Given the description of an element on the screen output the (x, y) to click on. 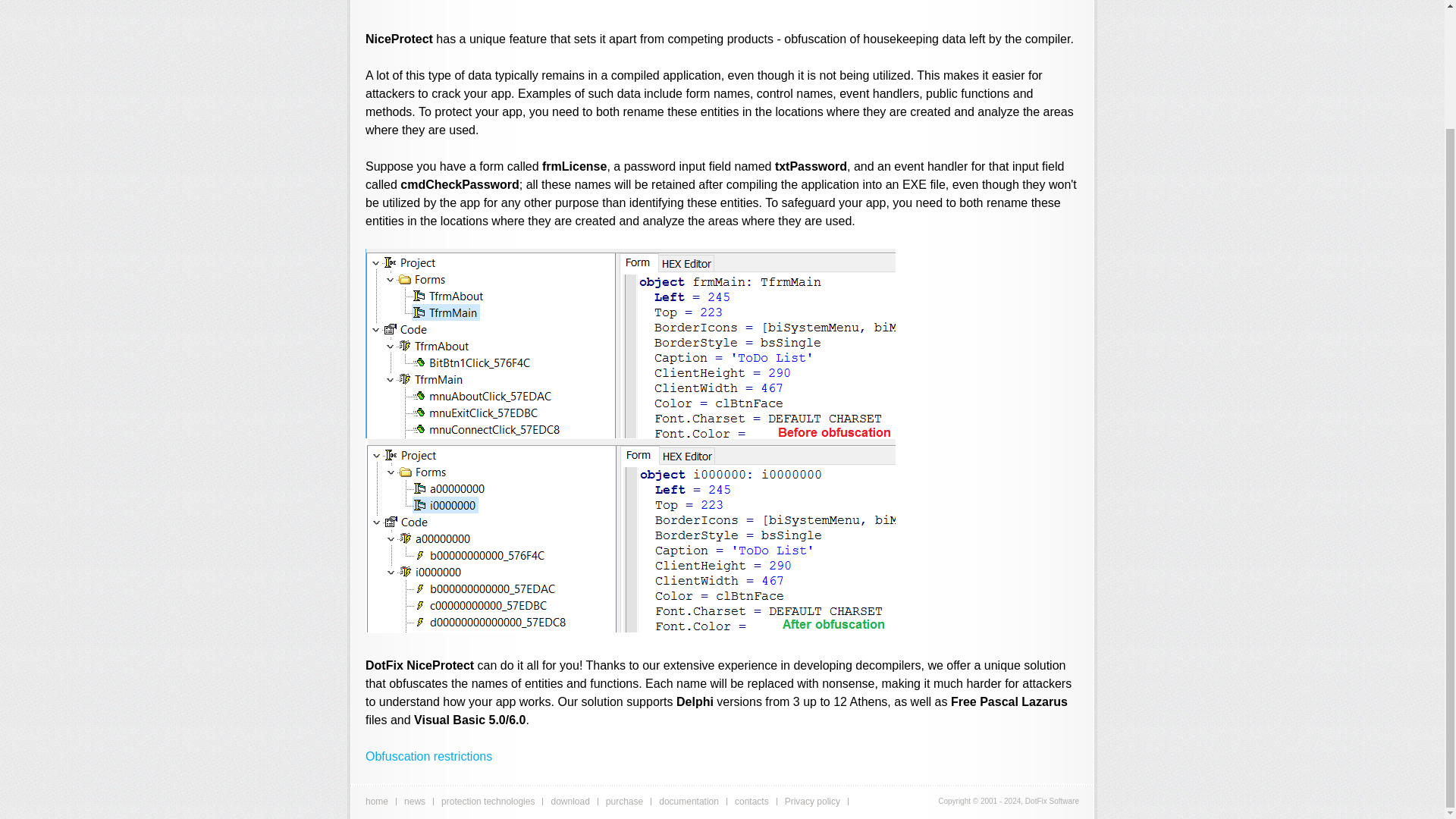
contacts (751, 801)
Privacy policy (812, 801)
home (376, 801)
download (569, 801)
news (414, 801)
purchase (624, 801)
Obfuscation restrictions (428, 756)
protection technologies (487, 801)
documentation (689, 801)
